Given the description of an element on the screen output the (x, y) to click on. 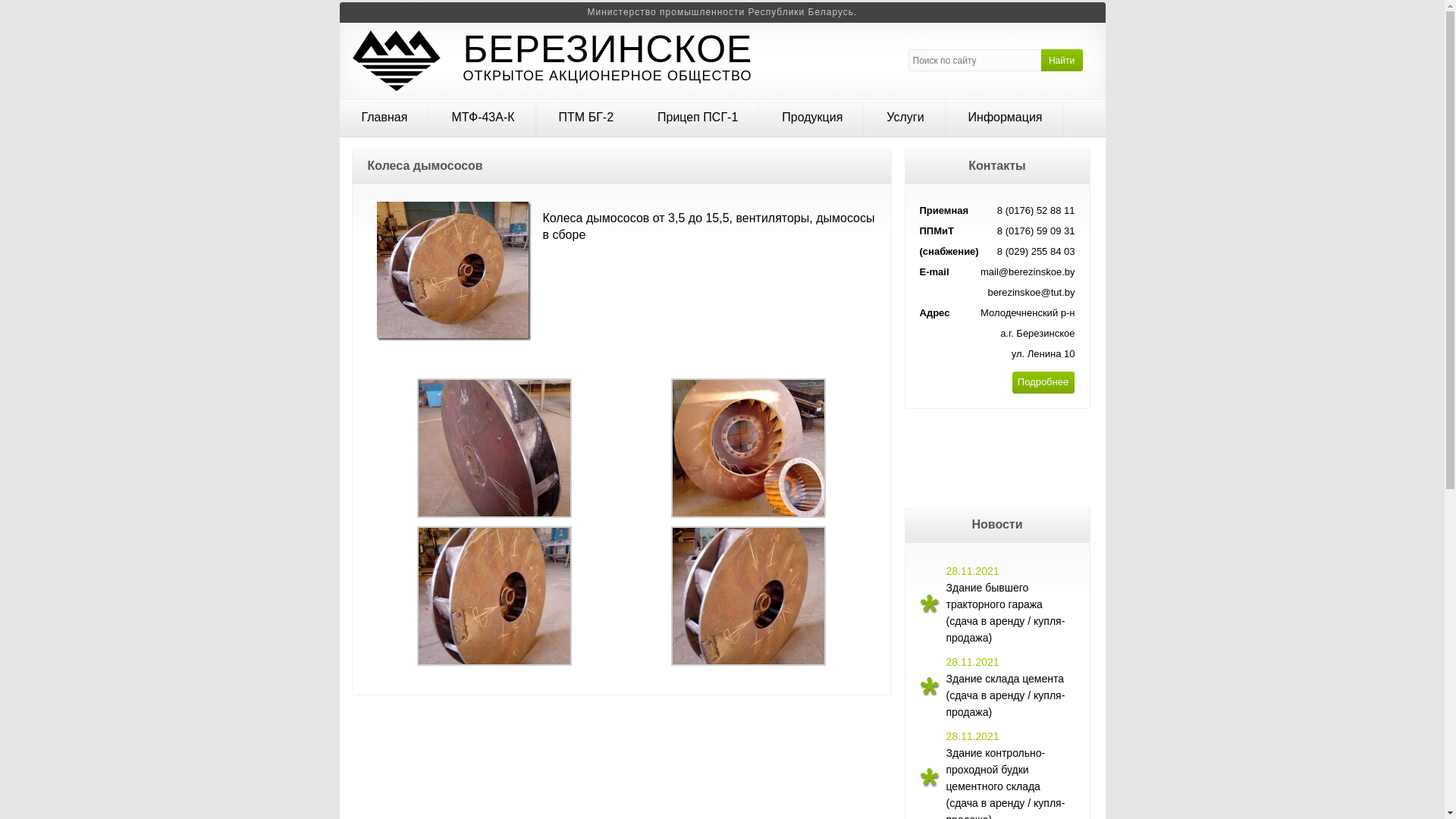
4 Element type: hover (748, 658)
1 Element type: hover (494, 511)
3 Element type: hover (494, 658)
2 Element type: hover (748, 511)
